Given the description of an element on the screen output the (x, y) to click on. 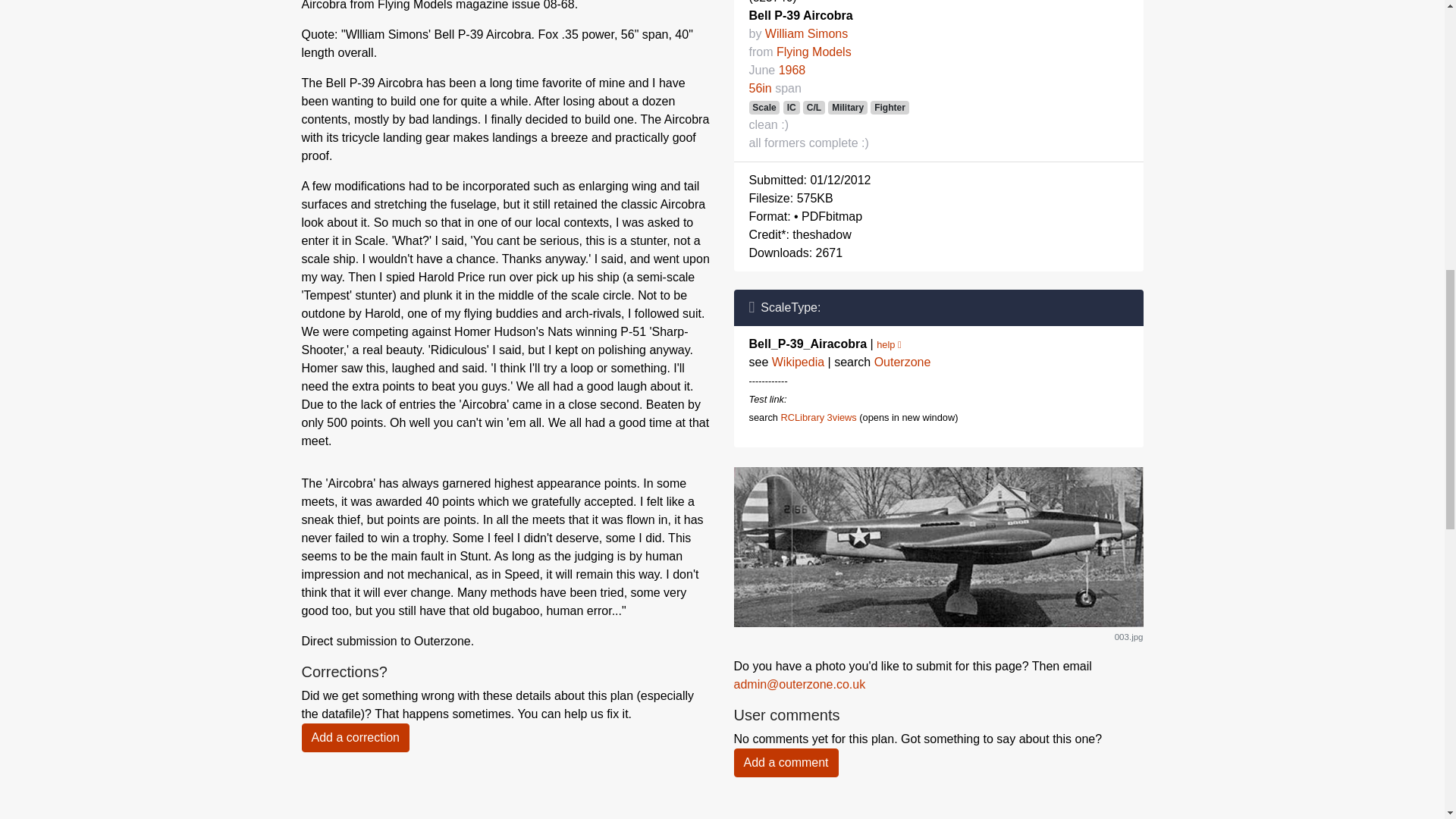
RCLibrary 3views (818, 417)
William Simons (806, 33)
56in (760, 88)
help (888, 344)
1968 (792, 69)
Add a correction (355, 737)
Flying Models (813, 51)
Outerzone (903, 361)
Wikipedia (797, 361)
